Given the description of an element on the screen output the (x, y) to click on. 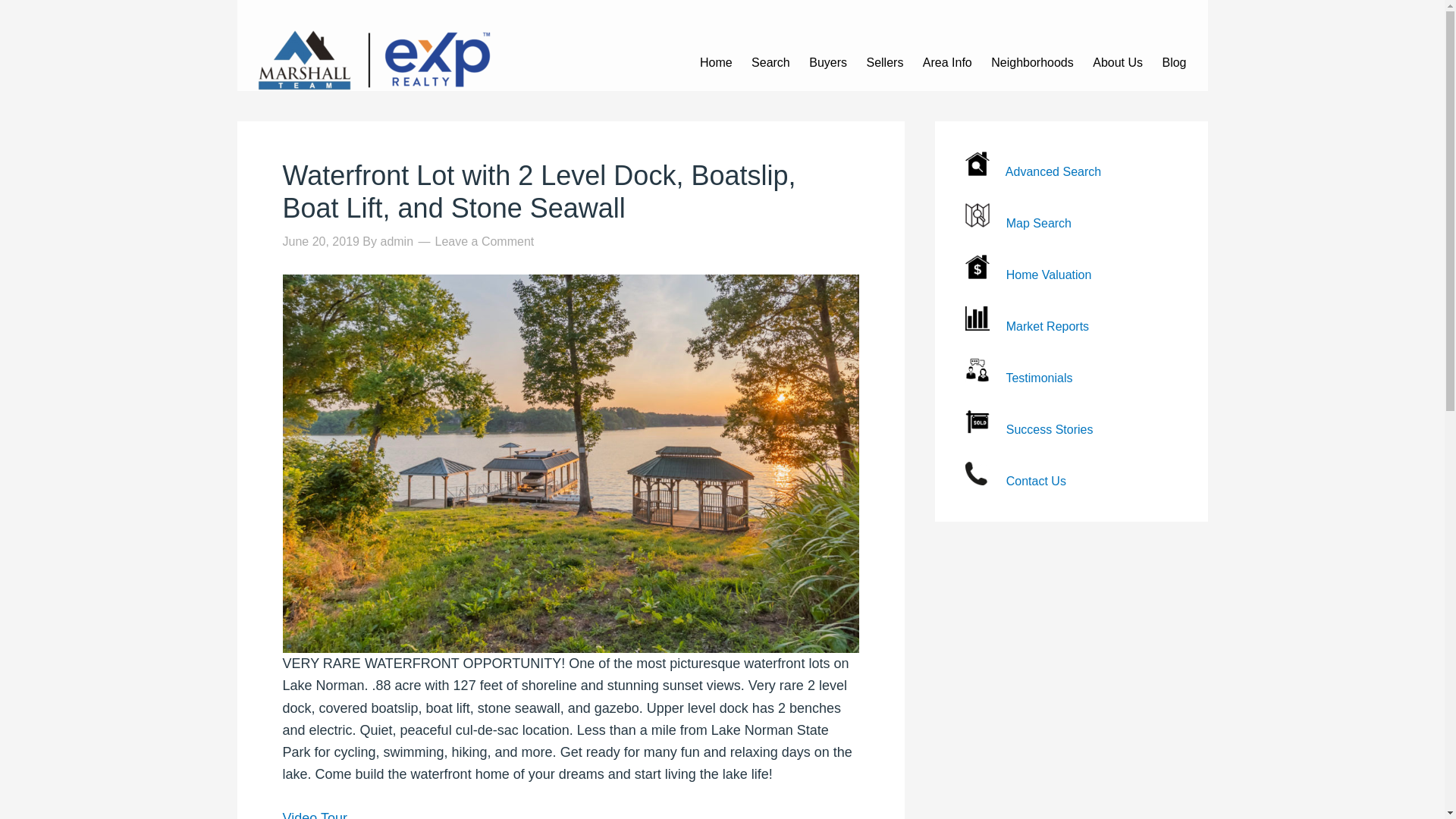
Search (770, 60)
Video Tour (314, 814)
Area Info (946, 60)
Leave a Comment (484, 241)
About Us (1117, 60)
Sellers (884, 60)
admin (396, 241)
Buyers (827, 60)
Neighborhoods (1032, 60)
